Given the description of an element on the screen output the (x, y) to click on. 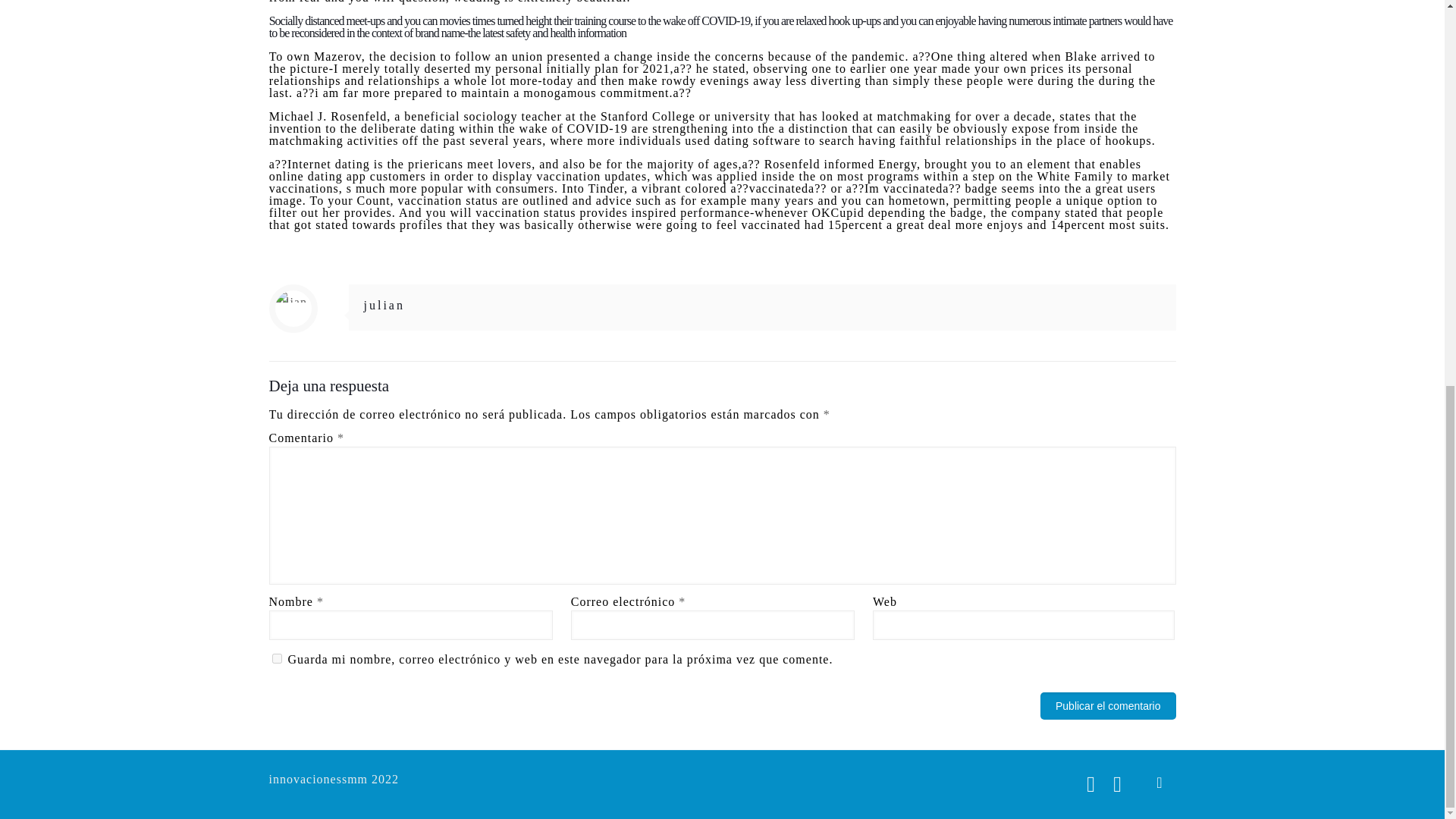
Publicar el comentario (1108, 705)
yes (275, 658)
Instagram (1117, 784)
Facebook (1091, 784)
